Given the description of an element on the screen output the (x, y) to click on. 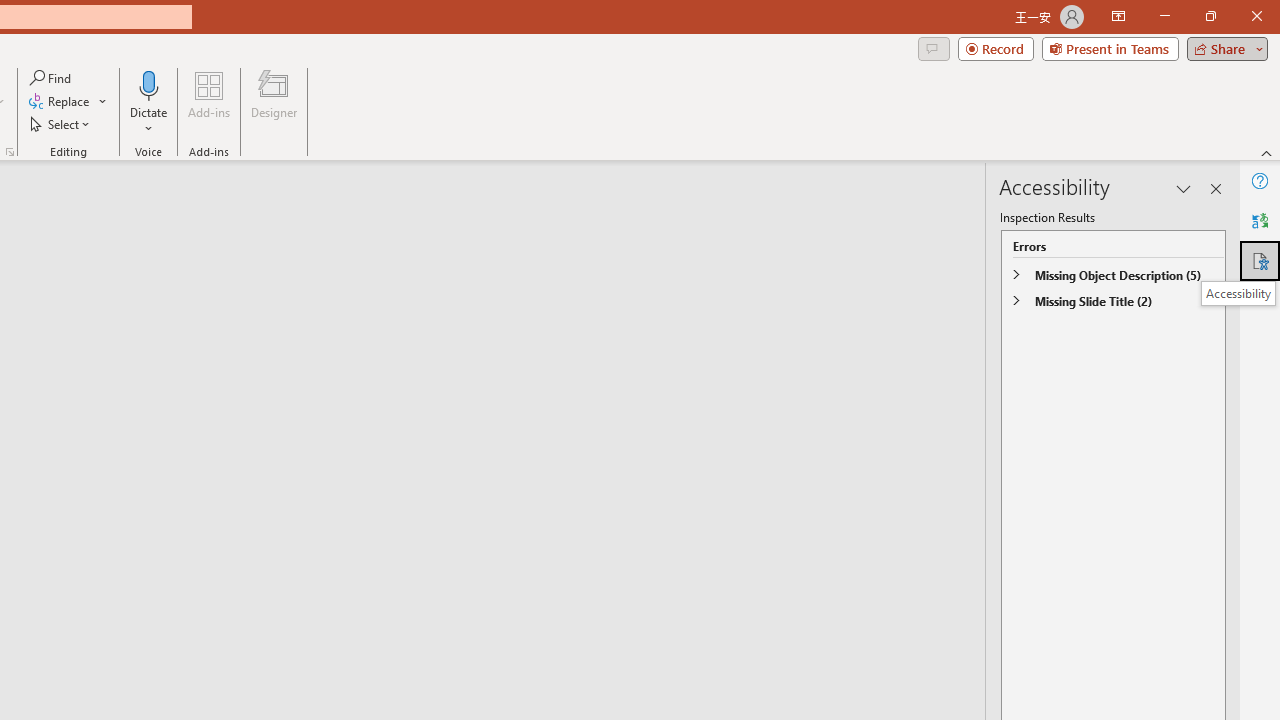
Select (61, 124)
